Given the description of an element on the screen output the (x, y) to click on. 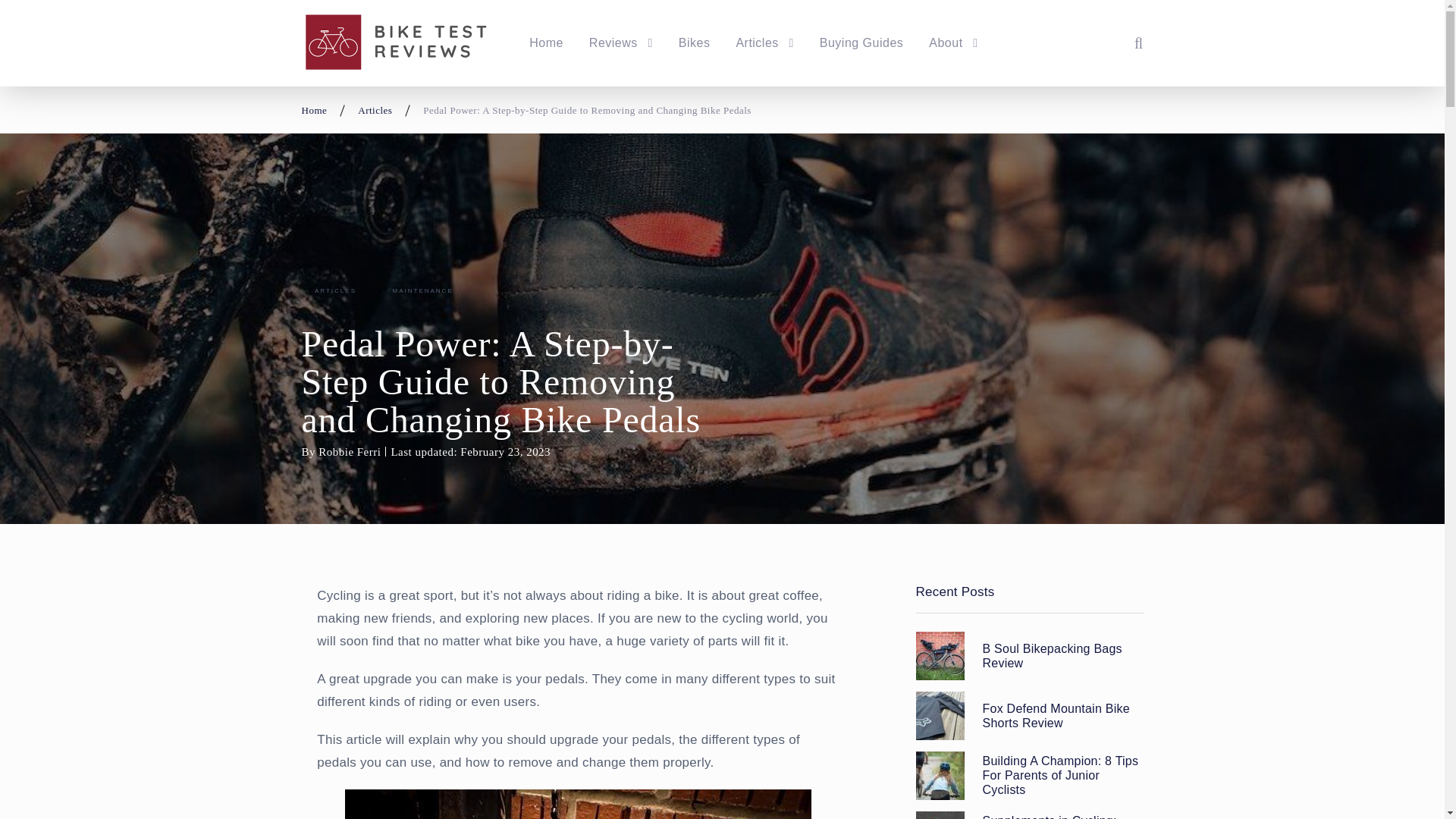
GO (1127, 42)
Fox Defend Mountain Bike Shorts Review (939, 715)
Building A Champion: 8 Tips For Parents of Junior Cyclists (939, 775)
Home (314, 110)
B Soul Bikepacking Bags Review (1062, 655)
Bikes (694, 43)
Reviews (620, 43)
B Soul Bikepacking Bags Review (939, 655)
MAINTENANCE (422, 290)
Articles (764, 43)
Fox Defend Mountain Bike Shorts Review (1062, 715)
About (952, 43)
Home (546, 43)
View all posts in Articles (335, 290)
ARTICLES (335, 290)
